Given the description of an element on the screen output the (x, y) to click on. 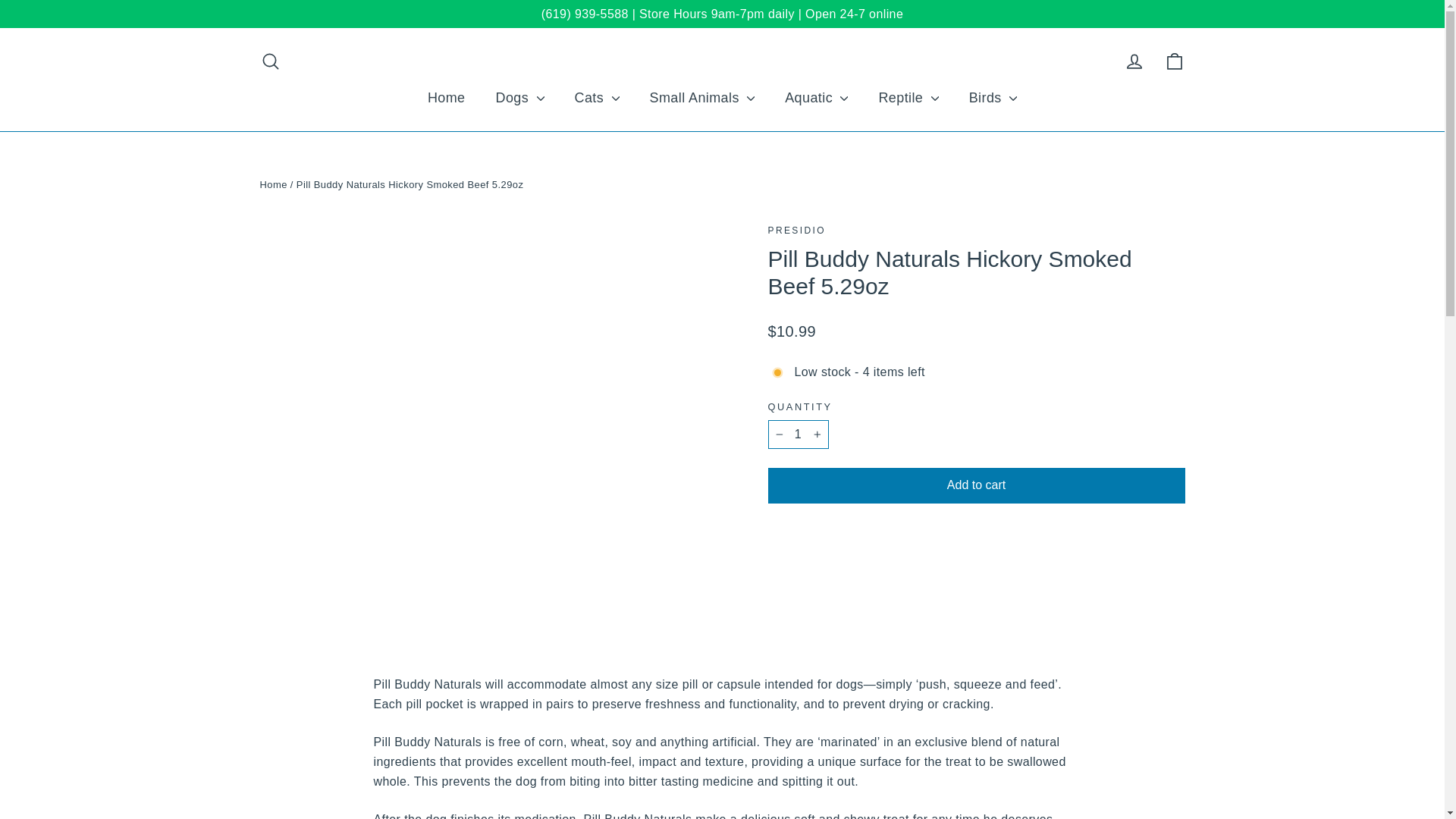
Page 3 (721, 814)
1 (797, 434)
Back to the frontpage (272, 184)
Presidio (796, 230)
